Given the description of an element on the screen output the (x, y) to click on. 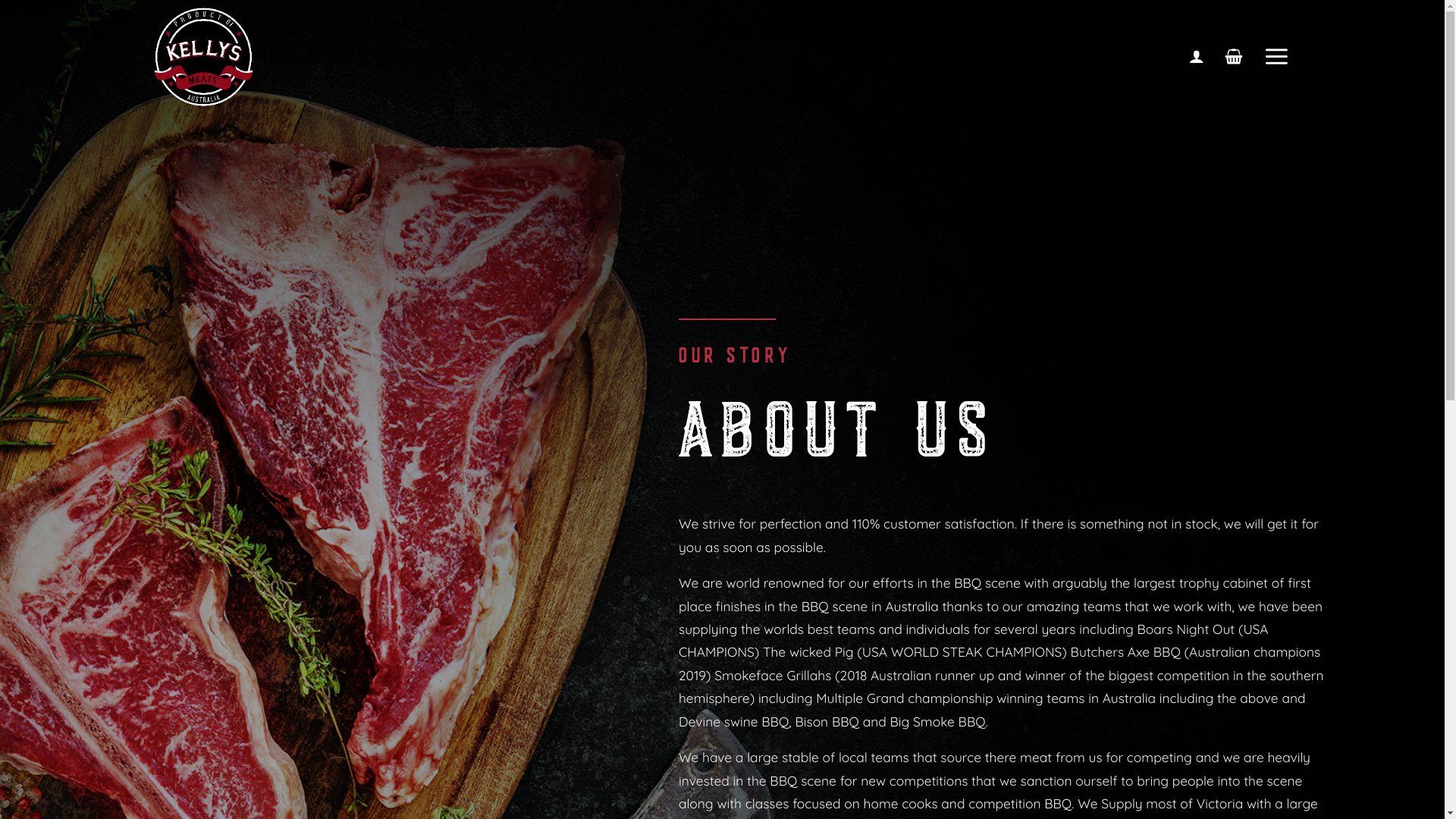
Kelly's Meats Element type: hover (228, 56)
Cart Element type: hover (1233, 56)
